Given the description of an element on the screen output the (x, y) to click on. 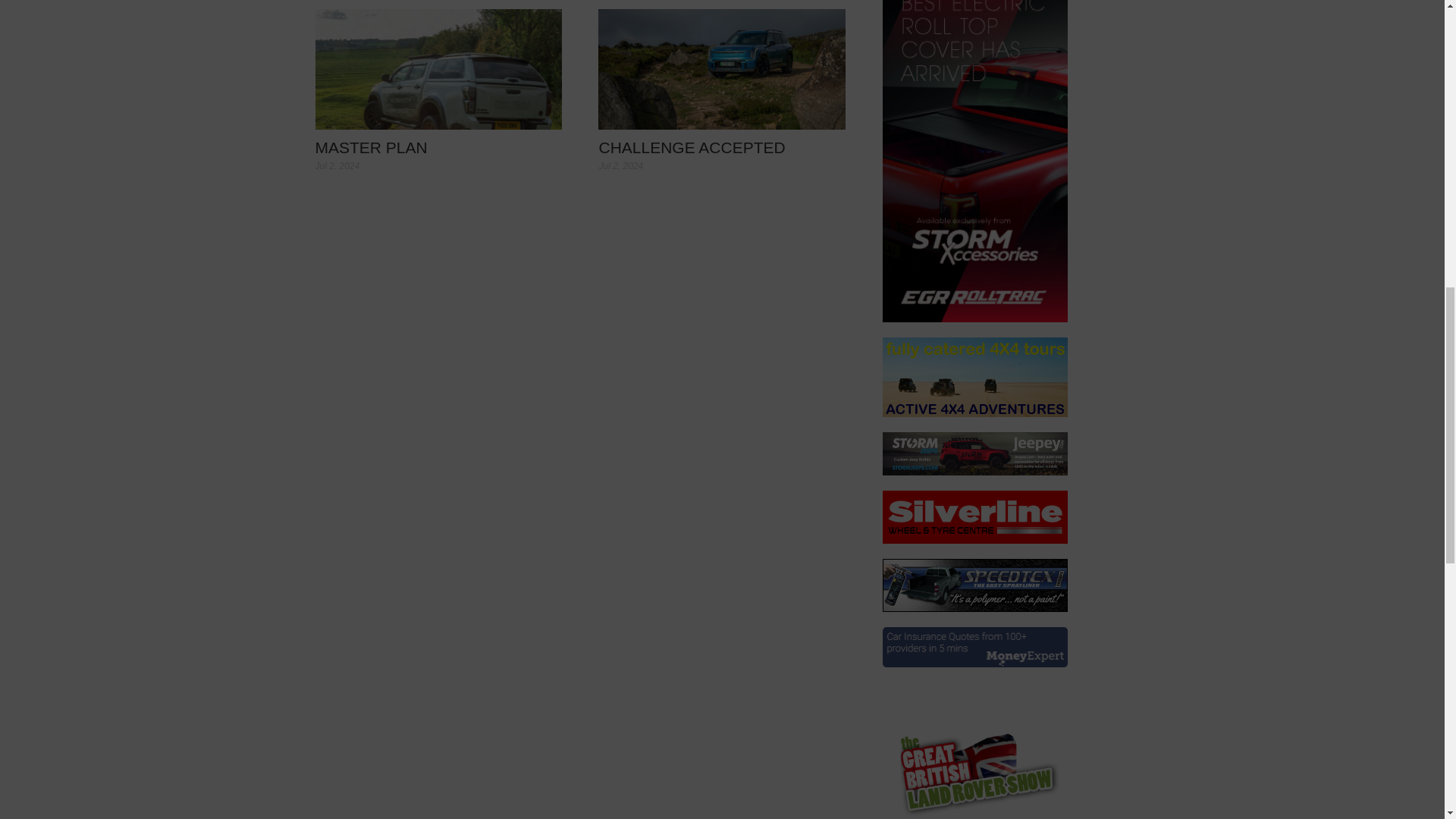
MASTER PLAN (438, 68)
MASTER PLAN (371, 147)
CHALLENGE ACCEPTED (691, 147)
Compare Car Insurance (974, 647)
CHALLENGE ACCEPTED (721, 69)
Silverline (974, 516)
Storm Xcessories (974, 161)
Active 4x4 Adventures (974, 376)
MASTER PLAN (438, 69)
CHALLENGE ACCEPTED (721, 68)
Jeepey (974, 453)
GBLRS Newark (974, 750)
CHALLENGE ACCEPTED (691, 147)
MASTER PLAN (371, 147)
Speedtex (974, 584)
